Given the description of an element on the screen output the (x, y) to click on. 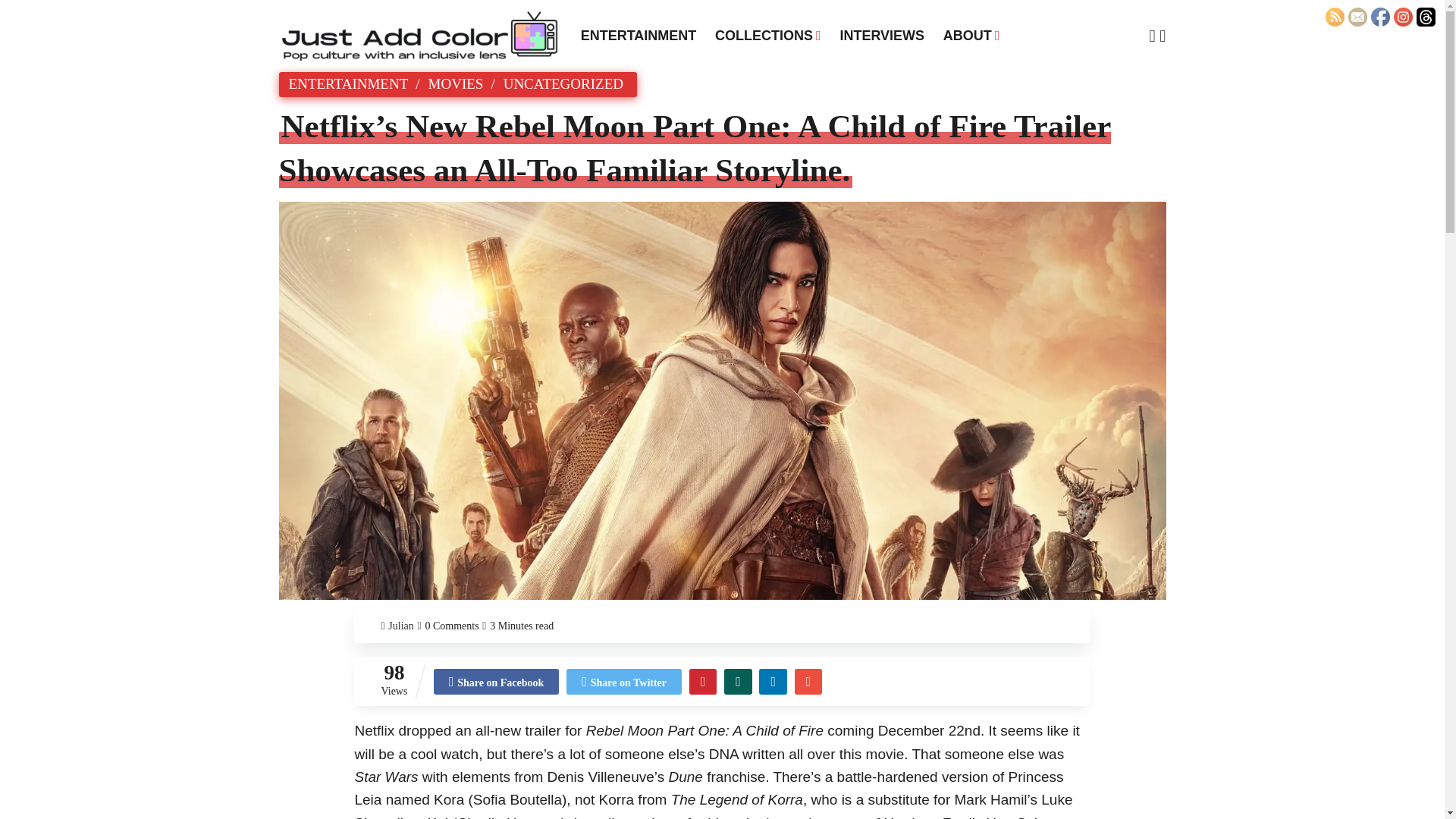
RSS (1333, 16)
SOCIALICON (1425, 16)
UNCATEGORIZED (563, 83)
Julian (400, 626)
COLLECTIONS (767, 35)
Instagram (1402, 16)
Follow by Email (1357, 16)
ENTERTAINMENT (347, 83)
MOVIES (455, 83)
ENTERTAINMENT (638, 35)
Search (455, 14)
ABOUT (971, 35)
INTERVIEWS (881, 35)
Facebook (1380, 16)
